Given the description of an element on the screen output the (x, y) to click on. 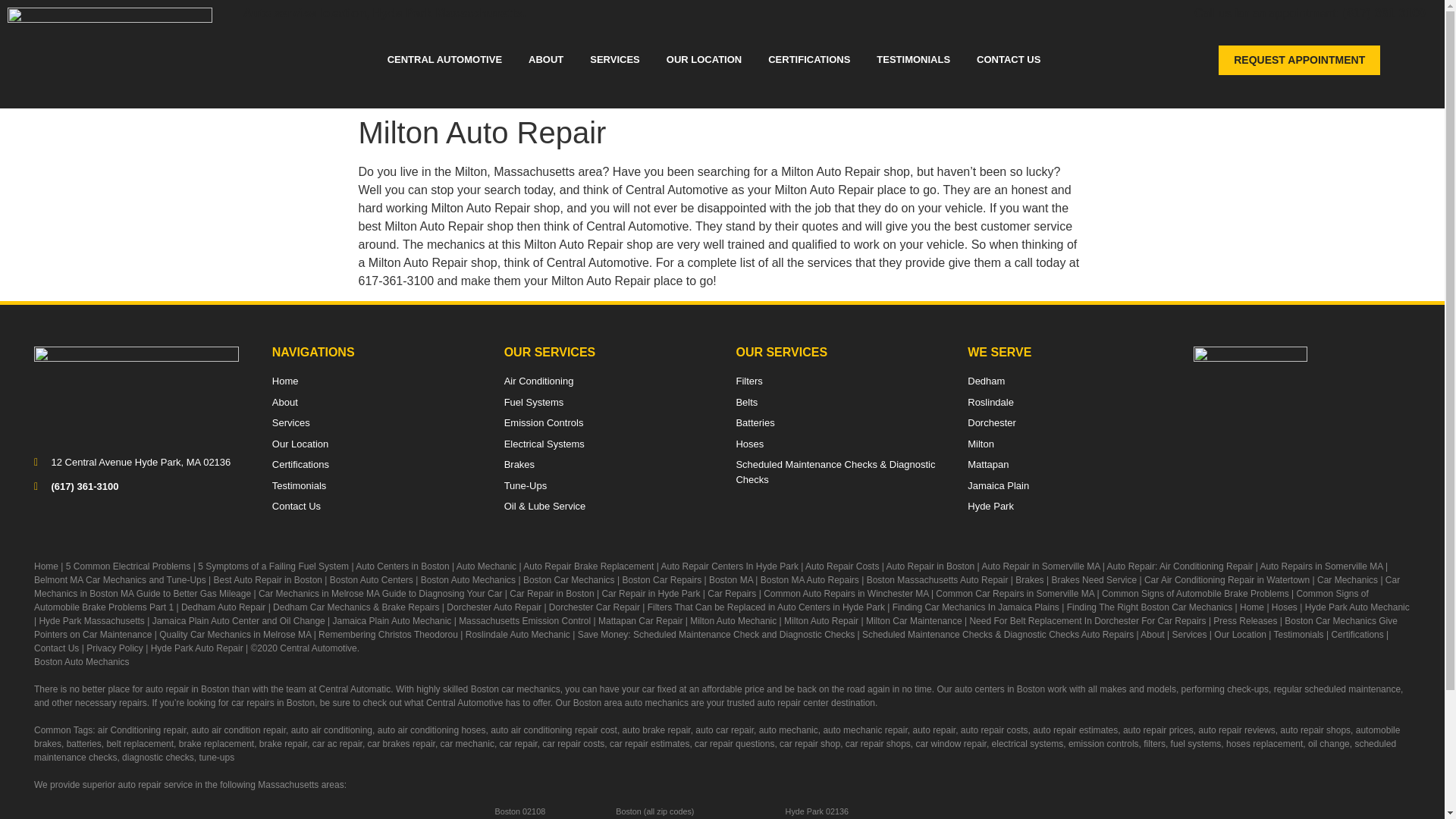
Contact Us (374, 506)
REQUEST APPOINTMENT (1299, 59)
Testimonials (374, 485)
TESTIMONIALS (913, 60)
Air Conditioning (606, 381)
About (374, 402)
CERTIFICATIONS (809, 60)
OUR LOCATION (703, 60)
SERVICES (614, 60)
ABOUT (545, 60)
Services (374, 422)
Home (374, 381)
Our Location (374, 444)
CONTACT US (1008, 60)
CENTRAL AUTOMOTIVE (444, 60)
